Given the description of an element on the screen output the (x, y) to click on. 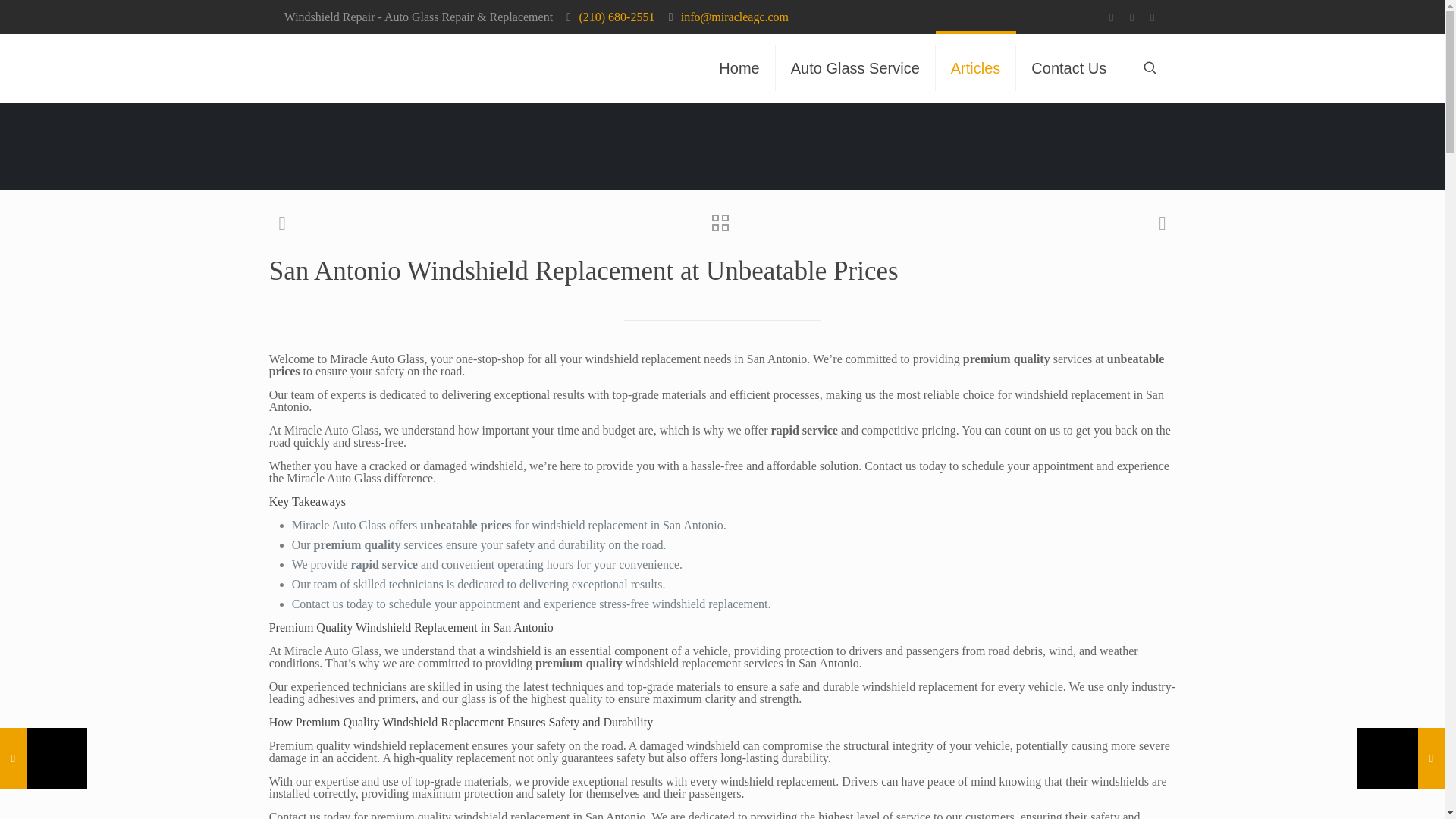
YouTube (1152, 17)
Miracle Auto Glass Center (356, 68)
Twitter (1132, 17)
Home (738, 68)
Home (738, 68)
Contact Us (1068, 68)
Articles (976, 68)
Facebook (1111, 17)
Auto Glass Service (856, 68)
